Given the description of an element on the screen output the (x, y) to click on. 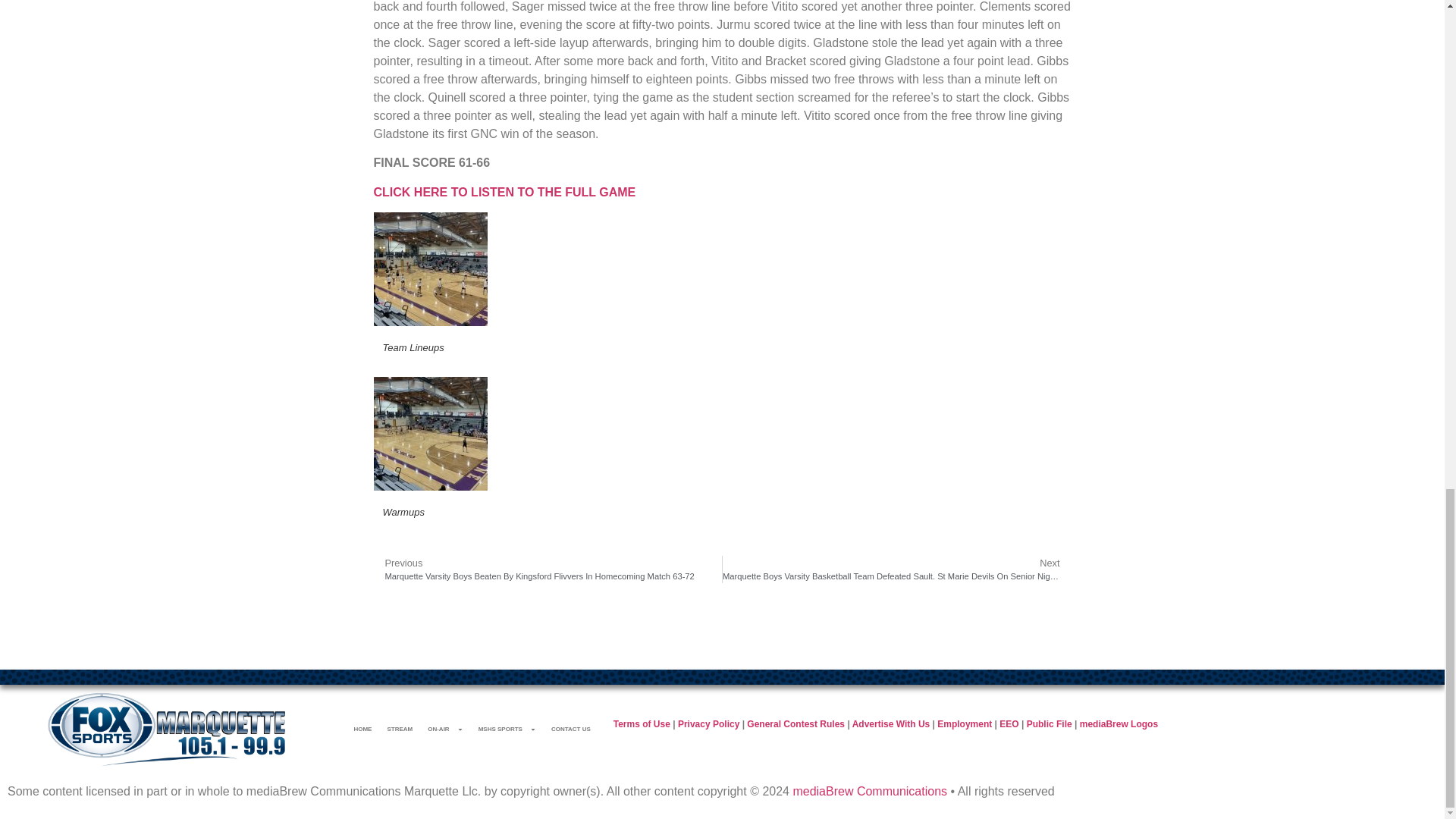
mediaBrew Logo Pack (1118, 724)
mediaBrew Employment (964, 724)
mediaBrew Communications Public File (1048, 724)
Advertise with mediaBrew Communications (890, 724)
STREAM (399, 728)
mediaBrew Terms of Use (640, 724)
mediaBrew Communications Privacy Policy (708, 724)
mediaBrew EEO (1007, 724)
mediaBrew General Contest Rules (795, 724)
HOME (362, 728)
CLICK HERE TO LISTEN TO THE FULL GAME (503, 192)
